Given the description of an element on the screen output the (x, y) to click on. 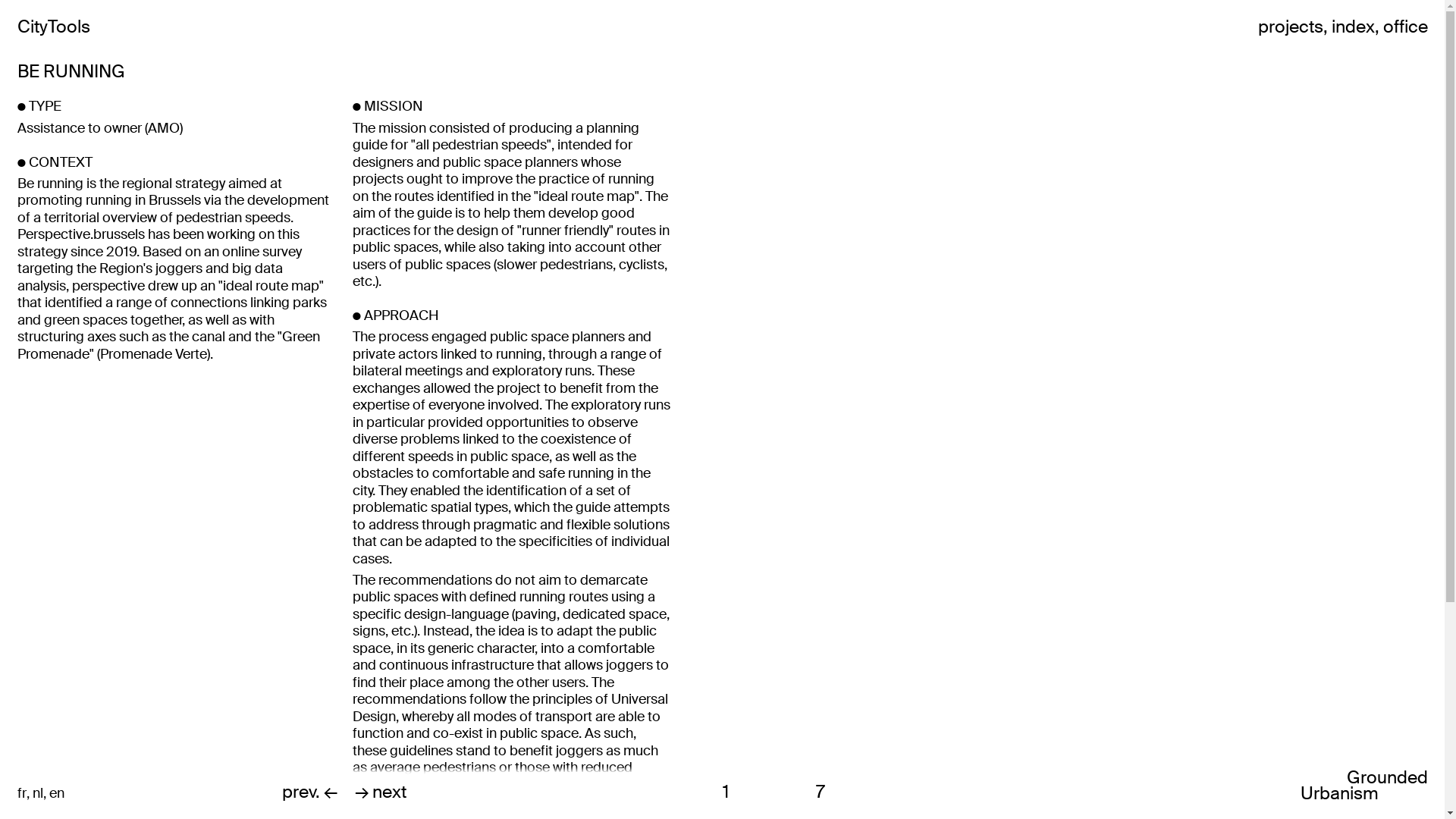
nl Element type: text (36, 793)
index Element type: text (1352, 25)
fr Element type: text (20, 793)
Next Element type: text (1192, 409)
en Element type: text (55, 793)
projects Element type: text (1289, 25)
office Element type: text (1405, 25)
Previous Element type: text (839, 409)
CityTools Element type: text (52, 26)
